Given the description of an element on the screen output the (x, y) to click on. 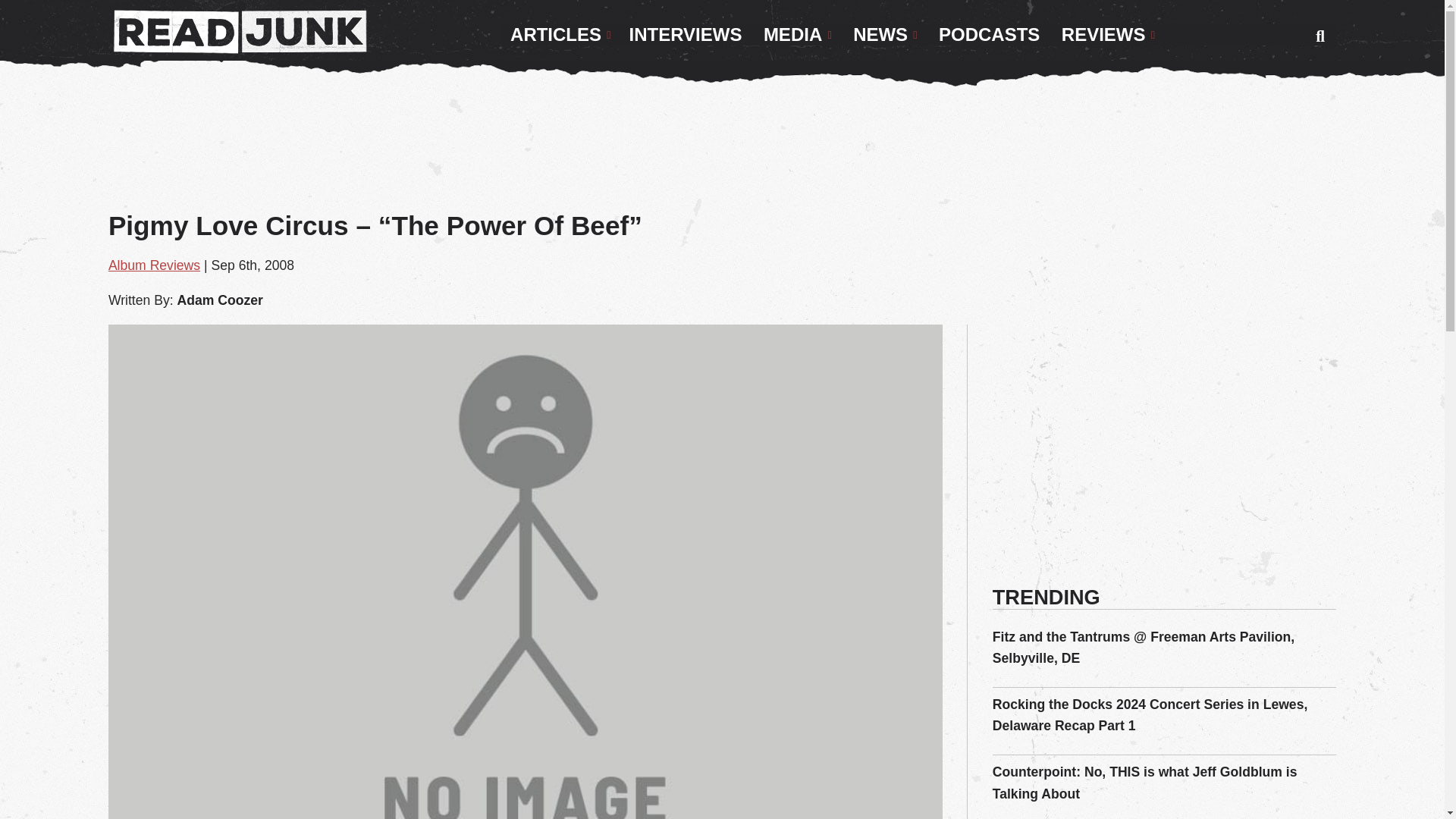
REVIEWS (1107, 34)
Posts by Adam Coozer (219, 299)
INTERVIEWS (685, 34)
MEDIA (797, 34)
ARTICLES (560, 34)
NEWS (885, 34)
PODCASTS (989, 34)
